Given the description of an element on the screen output the (x, y) to click on. 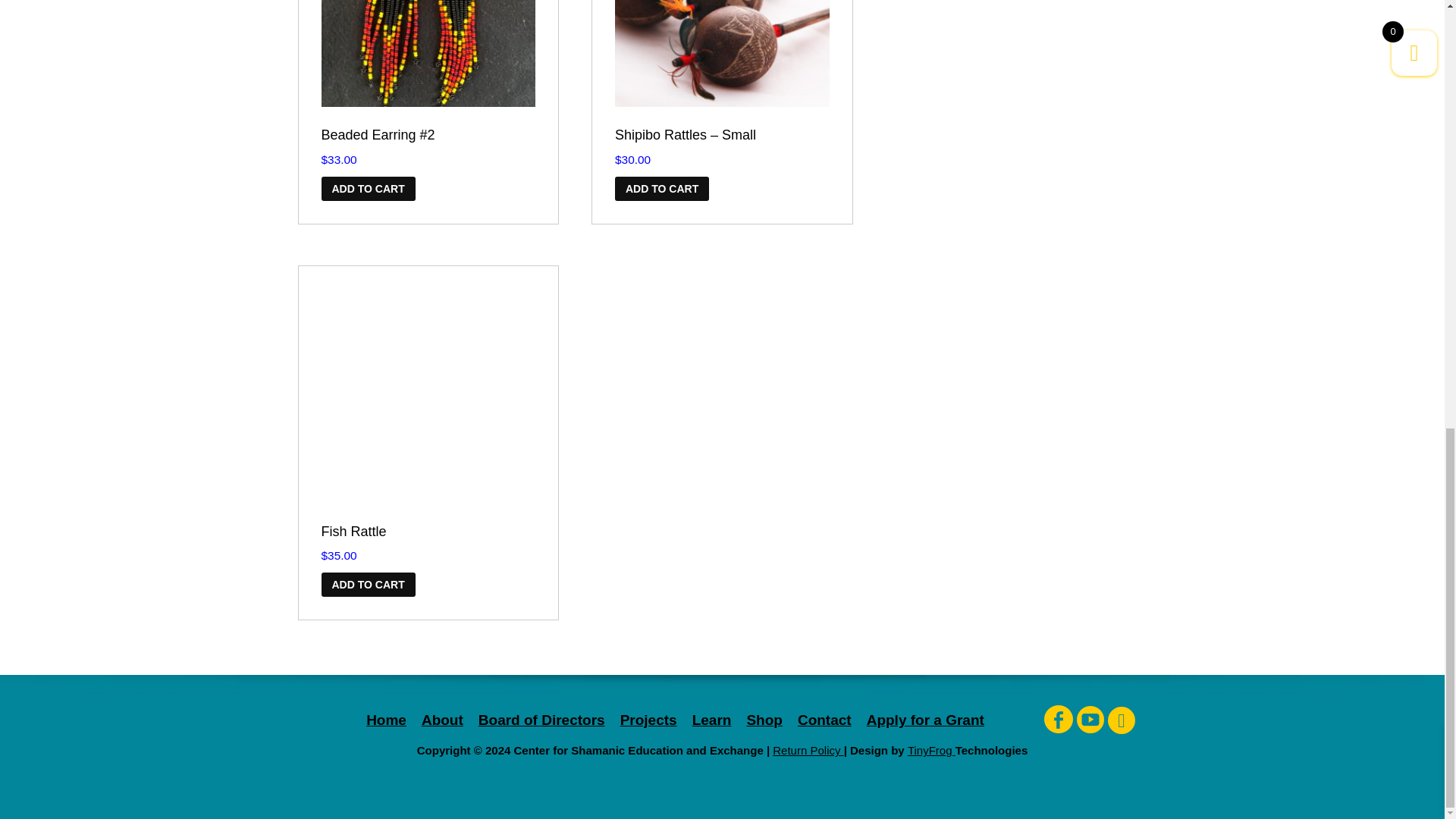
Projects (648, 719)
Contact (824, 719)
Board of Directors (542, 719)
About (442, 719)
ADD TO CART (367, 187)
Shop (764, 719)
ADD TO CART (367, 584)
Home (386, 719)
Learn (712, 719)
Return Policy (808, 749)
Apply for a Grant (925, 719)
TinyFrog (931, 749)
ADD TO CART (661, 187)
